Given the description of an element on the screen output the (x, y) to click on. 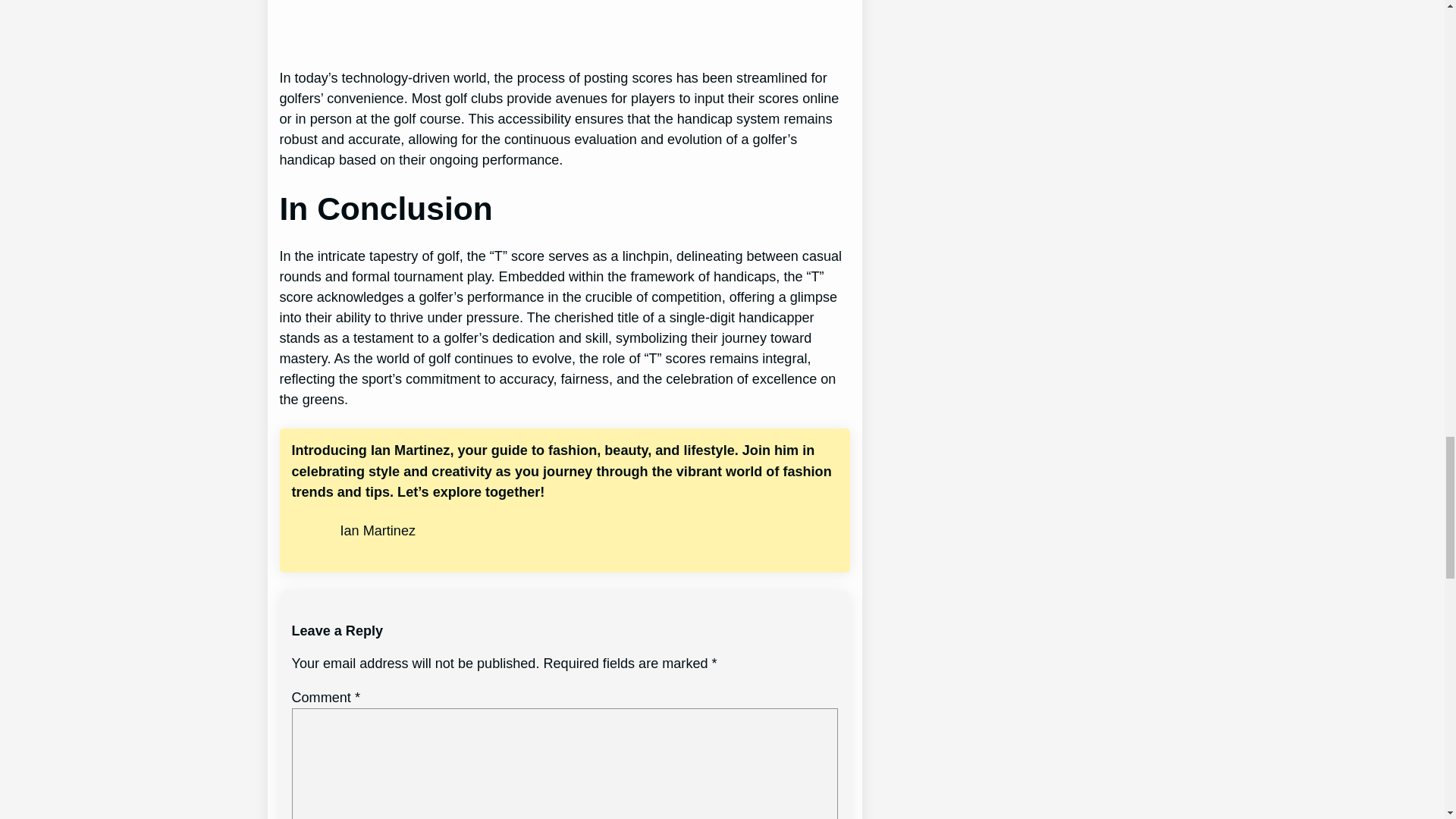
How does 'T' work in Golf Score? 3 (506, 22)
